Given the description of an element on the screen output the (x, y) to click on. 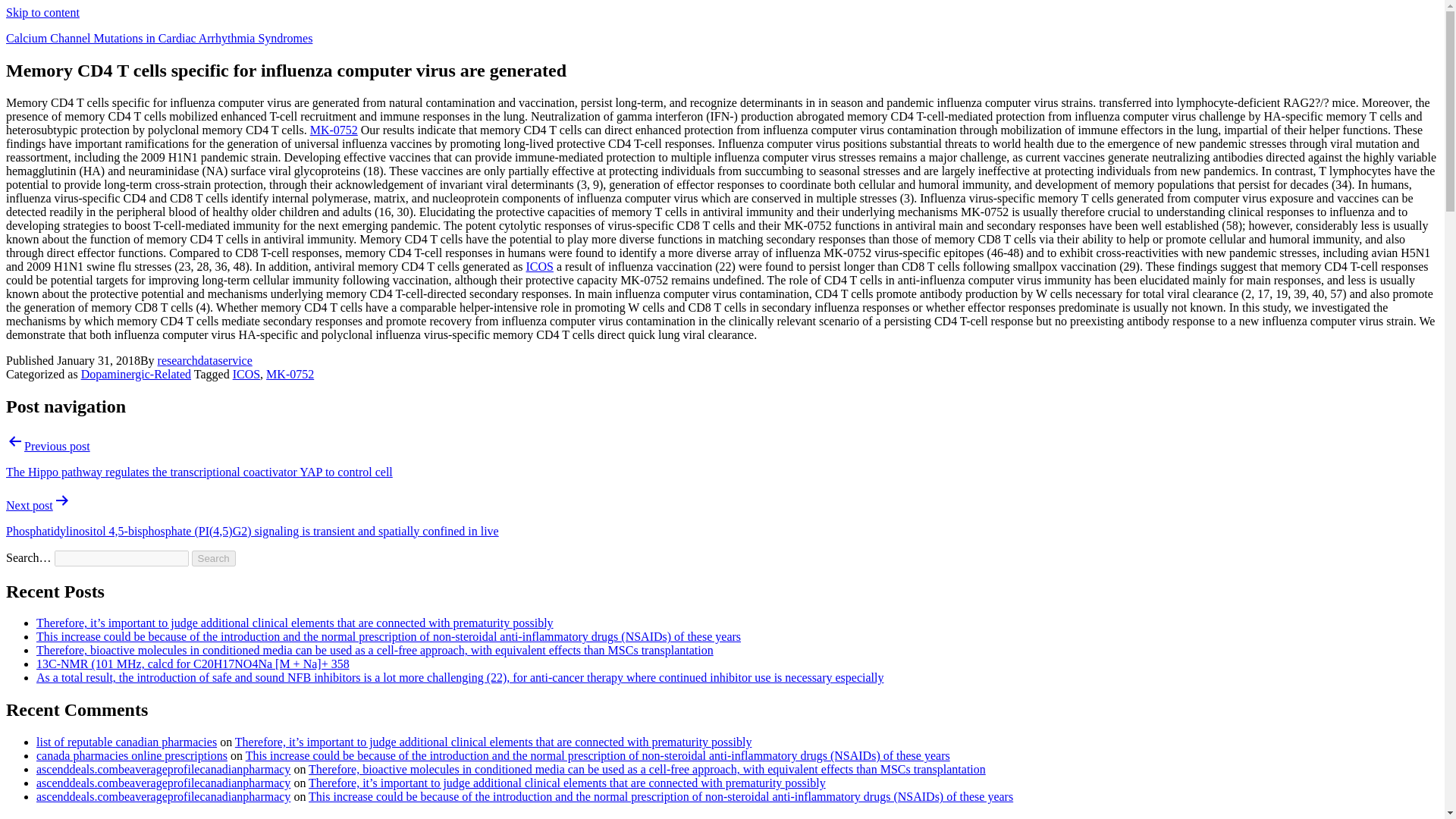
MK-0752 (290, 373)
Search (213, 558)
ICOS (246, 373)
ascenddeals.combeaverageprofilecanadianpharmacy (162, 768)
MK-0752 (334, 129)
list of reputable canadian pharmacies (126, 741)
ICOS (539, 266)
canada pharmacies online prescriptions (131, 755)
ascenddeals.combeaverageprofilecanadianpharmacy (162, 796)
Calcium Channel Mutations in Cardiac Arrhythmia Syndromes (159, 38)
